Given the description of an element on the screen output the (x, y) to click on. 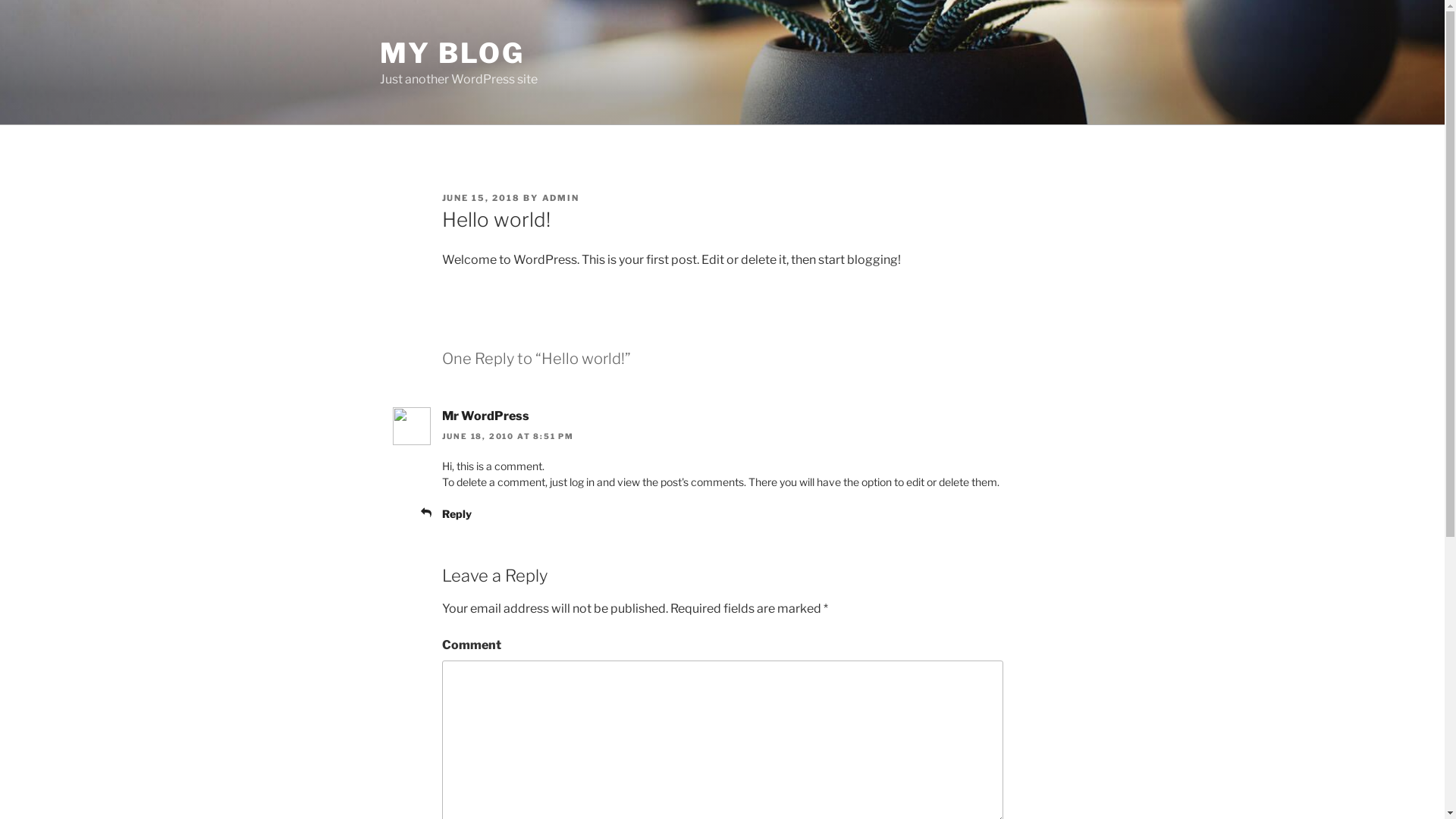
MY BLOG Element type: text (451, 52)
Mr WordPress Element type: text (484, 415)
Skip to content Element type: text (0, 0)
ADMIN Element type: text (560, 197)
JUNE 18, 2010 AT 8:51 PM Element type: text (507, 435)
JUNE 15, 2018 Element type: text (480, 197)
Reply Element type: text (455, 513)
